Given the description of an element on the screen output the (x, y) to click on. 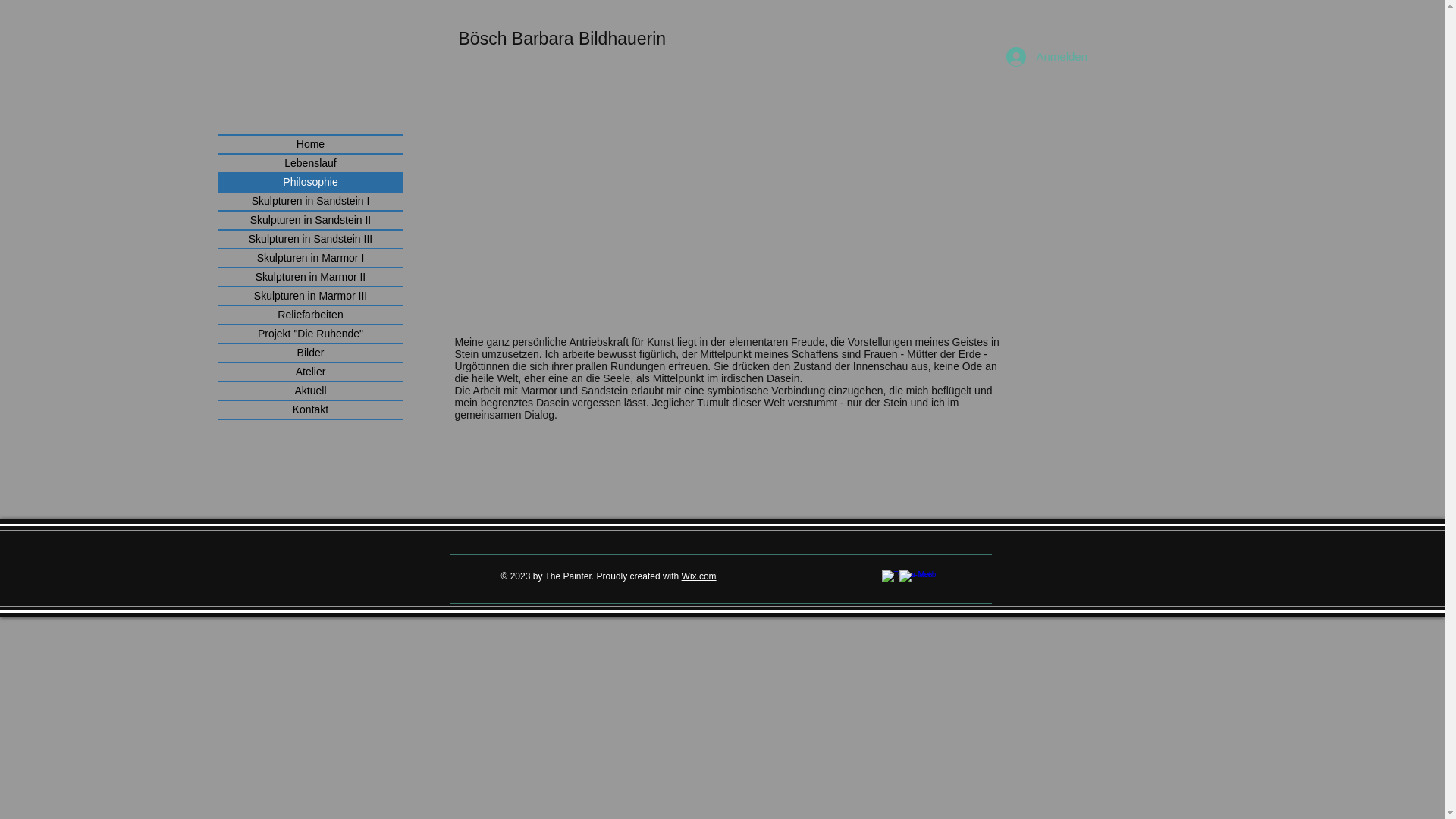
Skulpturen in Marmor I Element type: text (310, 257)
Anmelden Element type: text (1039, 56)
Home Element type: text (310, 144)
Skulpturen in Sandstein I Element type: text (310, 201)
Wix.com Element type: text (698, 576)
Aktuell Element type: text (310, 390)
Lebenslauf Element type: text (310, 163)
Kontakt Element type: text (310, 409)
Atelier Element type: text (310, 371)
Bilder Element type: text (310, 352)
Philosophie Element type: text (310, 182)
Skulpturen in Marmor II Element type: text (310, 276)
abb.JPG Element type: hover (684, 193)
Skulpturen in Marmor III Element type: text (310, 295)
Projekt "Die Ruhende" Element type: text (310, 333)
Skulpturen in Sandstein II Element type: text (310, 220)
Reliefarbeiten Element type: text (310, 314)
Skulpturen in Sandstein III Element type: text (310, 238)
